Given the description of an element on the screen output the (x, y) to click on. 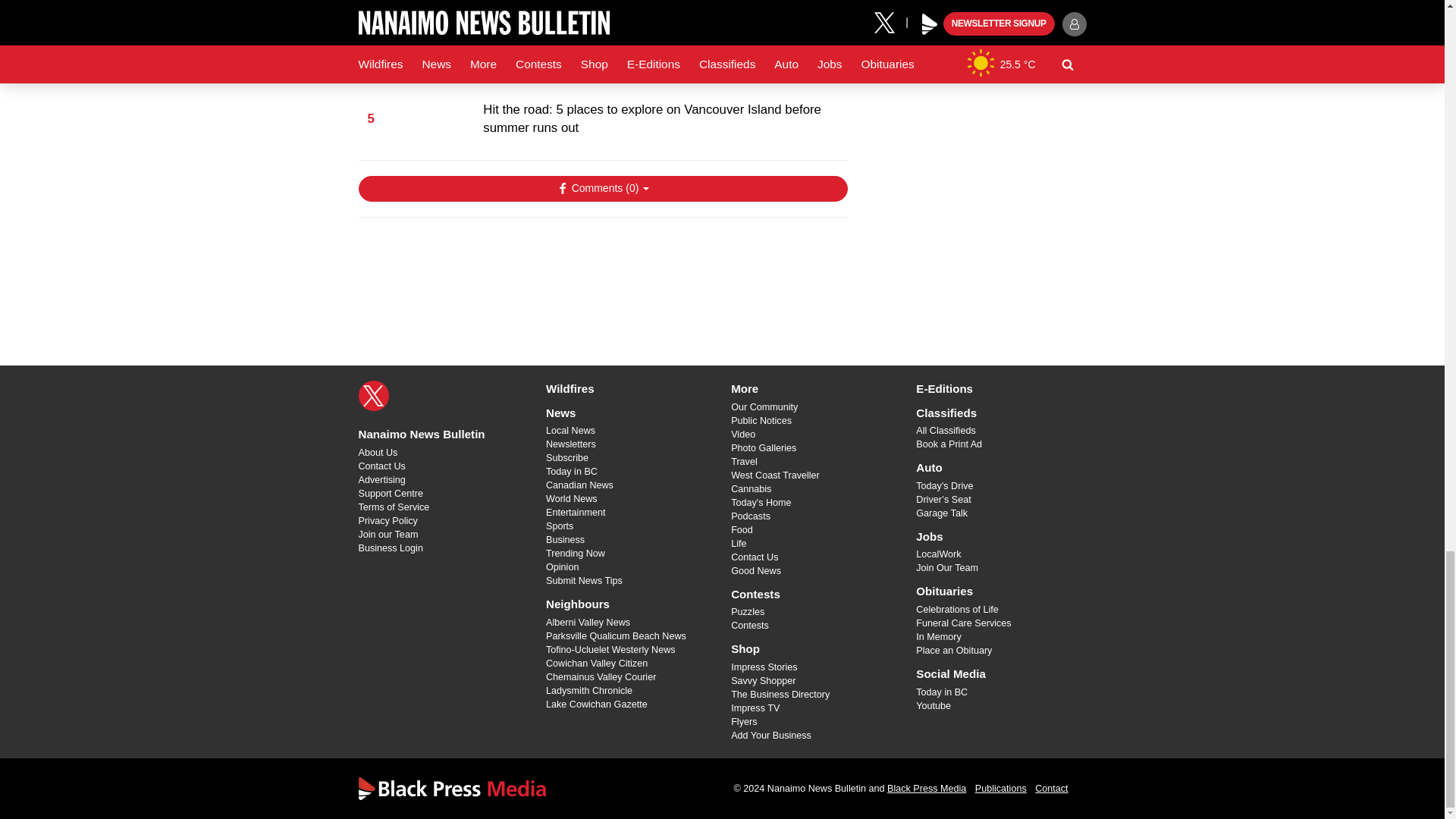
X (373, 395)
Show Comments (602, 188)
